Given the description of an element on the screen output the (x, y) to click on. 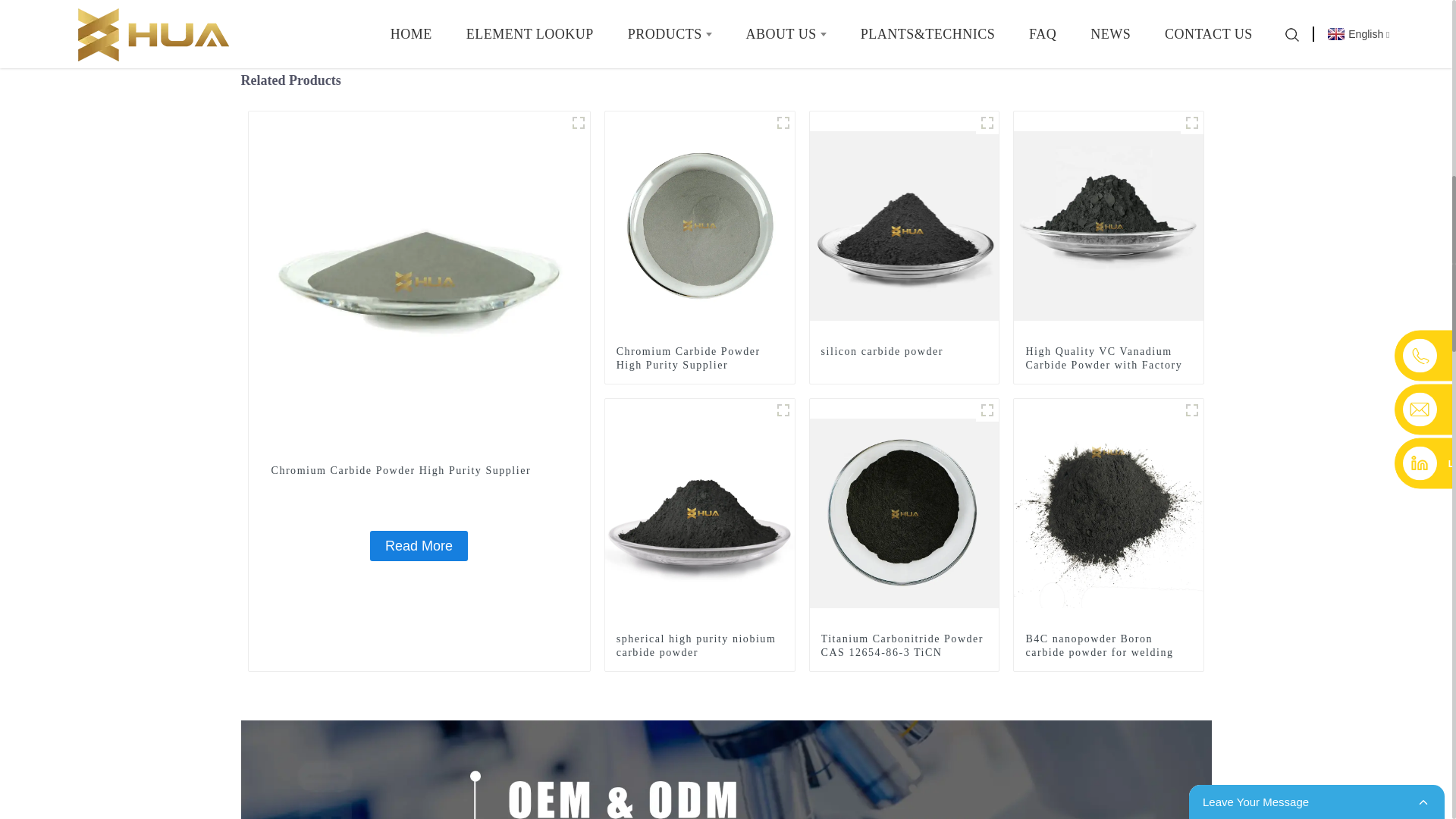
Chromium Carbide Powder High Purity Supplier (699, 358)
High Quality VC Vanadium Carbide Powder with Factory Price (1108, 364)
High Quality VC Vanadium Carbide Powder with Factory Price (1108, 224)
Chromium Carbide Powder High Purity Supplier (418, 281)
silicon carbide powder (904, 351)
Vanadium carbide powder (1192, 122)
silicon carbide powder (904, 351)
asdzxczx1 (782, 409)
Chromium Carbide Powder High Purity Supplier (418, 470)
asdzxczxczx1 (578, 122)
